Given the description of an element on the screen output the (x, y) to click on. 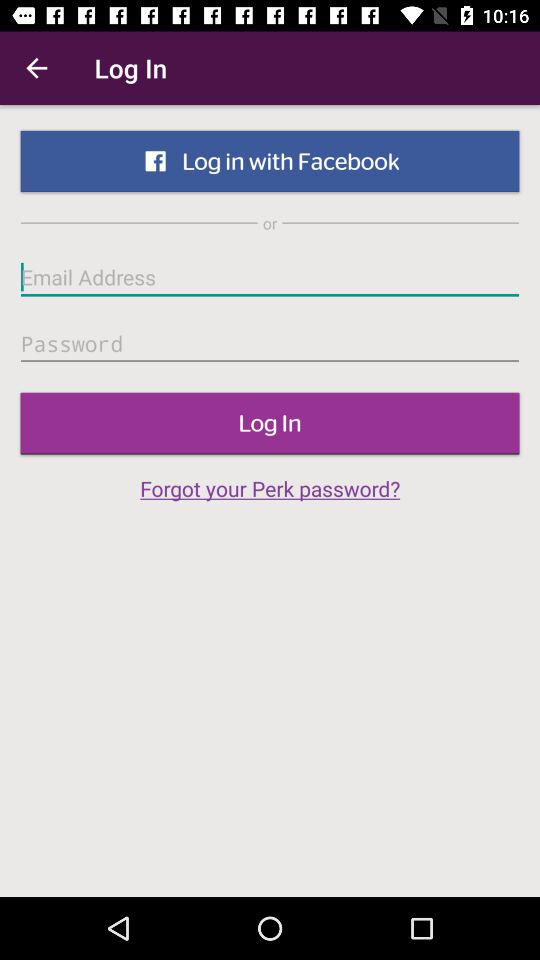
turn off icon below the or icon (269, 277)
